Given the description of an element on the screen output the (x, y) to click on. 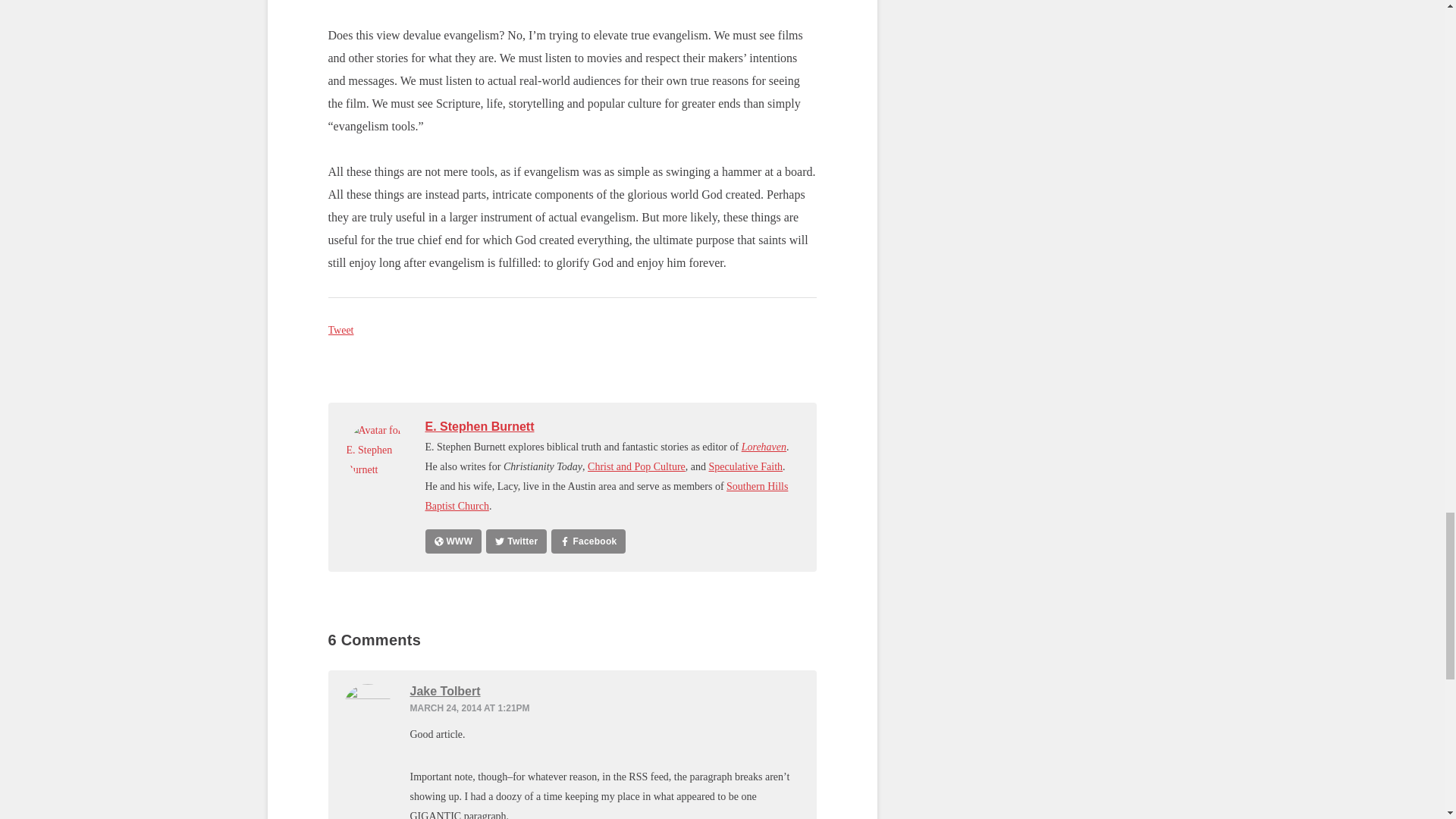
Christ and Pop Culture (636, 466)
WWW (453, 541)
Lorehaven (763, 446)
E. Stephen Burnett (479, 426)
Tweet (340, 329)
Twitter (516, 541)
Speculative Faith (745, 466)
Southern Hills Baptist Church (606, 495)
